Given the description of an element on the screen output the (x, y) to click on. 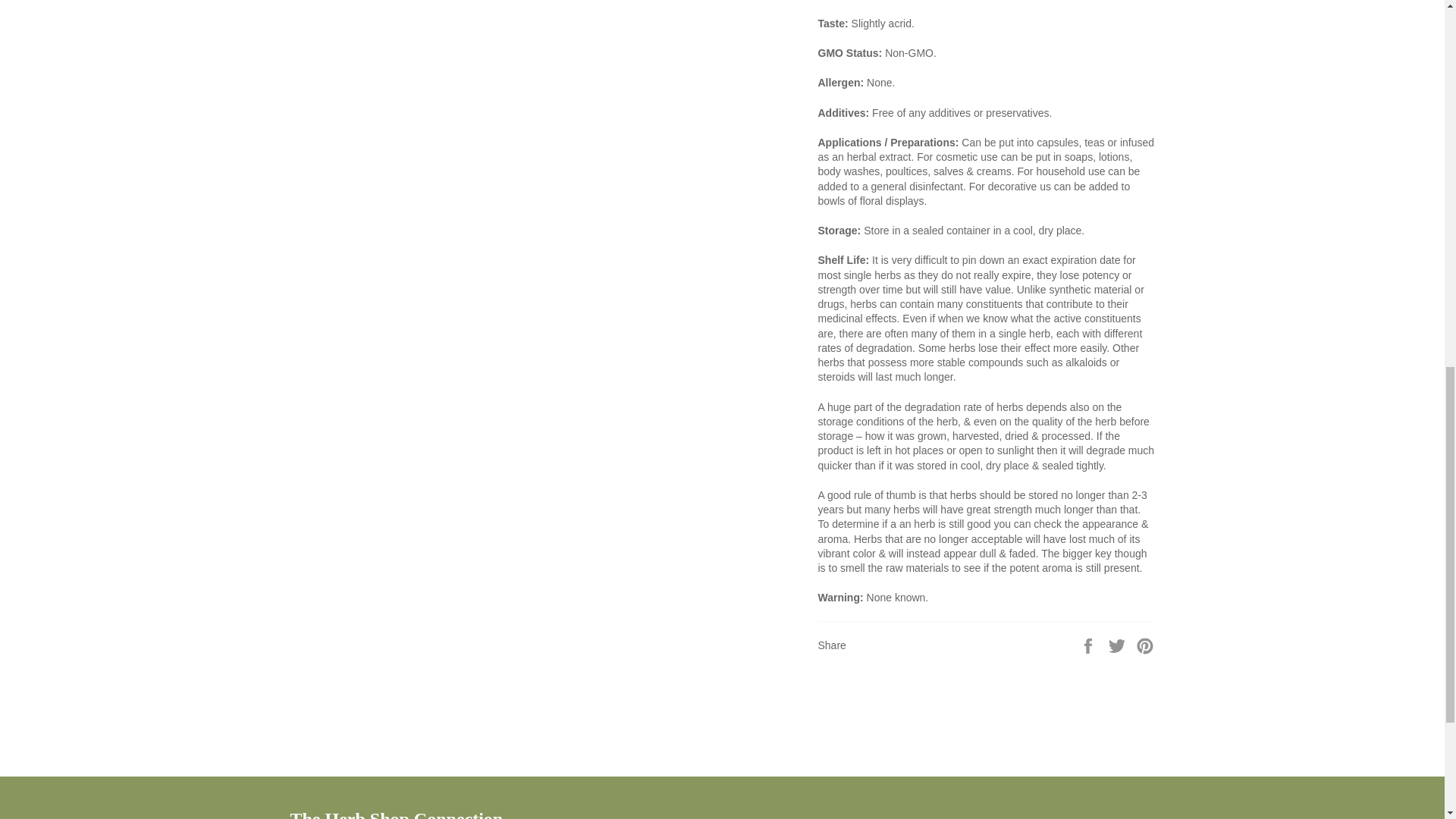
Pin on Pinterest (1144, 644)
Share on Facebook (1089, 644)
Tweet on Twitter (1118, 644)
